Given the description of an element on the screen output the (x, y) to click on. 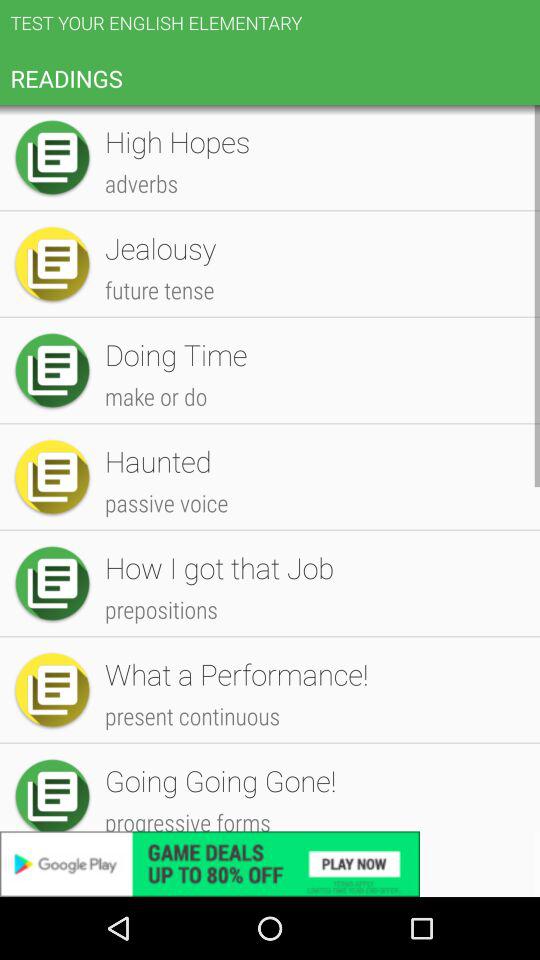
tap millionaire icon (311, 545)
